Given the description of an element on the screen output the (x, y) to click on. 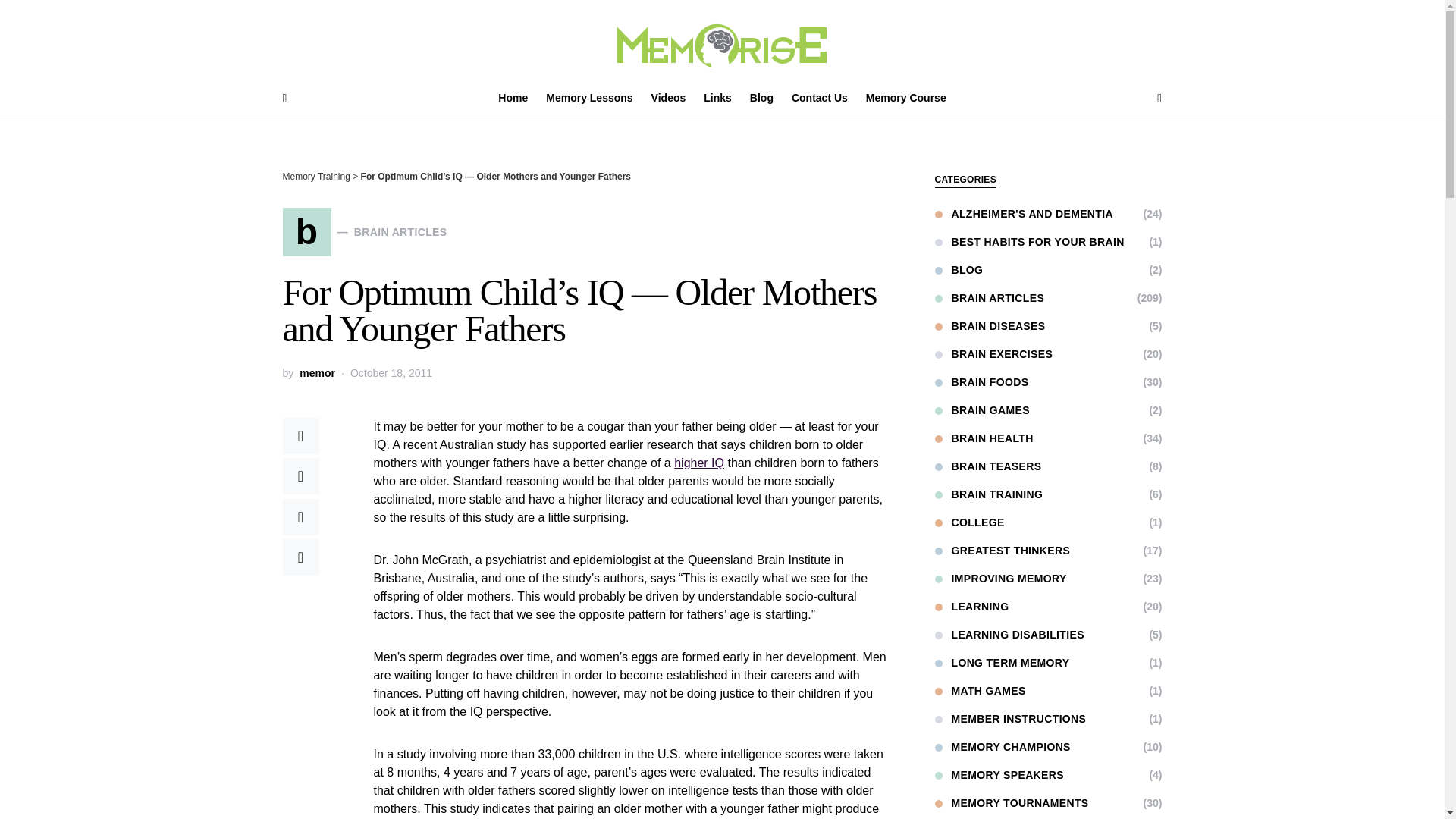
Videos (668, 98)
Contact Us (820, 98)
Best Brain Training Videos (668, 98)
The Leading Online Memory Improvement Course Training (820, 98)
Memory Lessons (589, 98)
Links (717, 98)
Blog (762, 98)
View all posts by memor (316, 373)
Memory Training (315, 176)
Memory Course (901, 98)
